Given the description of an element on the screen output the (x, y) to click on. 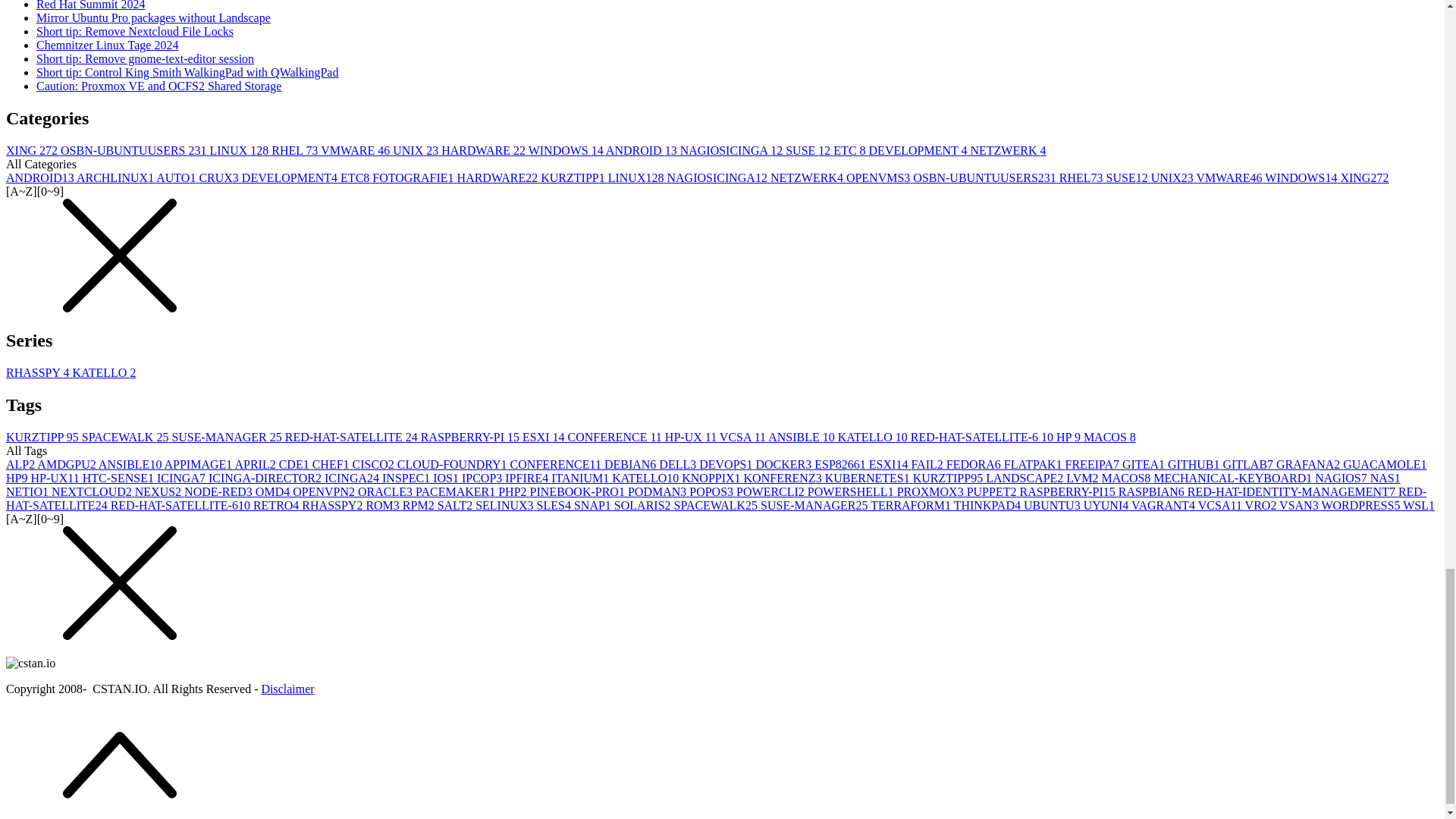
Caution: Proxmox VE and OCFS2 Shared Storage (158, 85)
XING 272 (33, 150)
Chemnitzer Linux Tage 2024 (106, 44)
Short tip: Control King Smith WalkingPad with QWalkingPad (186, 72)
Red Hat Summit 2024 (90, 5)
Mirror Ubuntu Pro packages without Landscape (153, 17)
Short tip: Remove gnome-text-editor session (144, 58)
Short tip: Remove Nextcloud File Locks (134, 31)
